Given the description of an element on the screen output the (x, y) to click on. 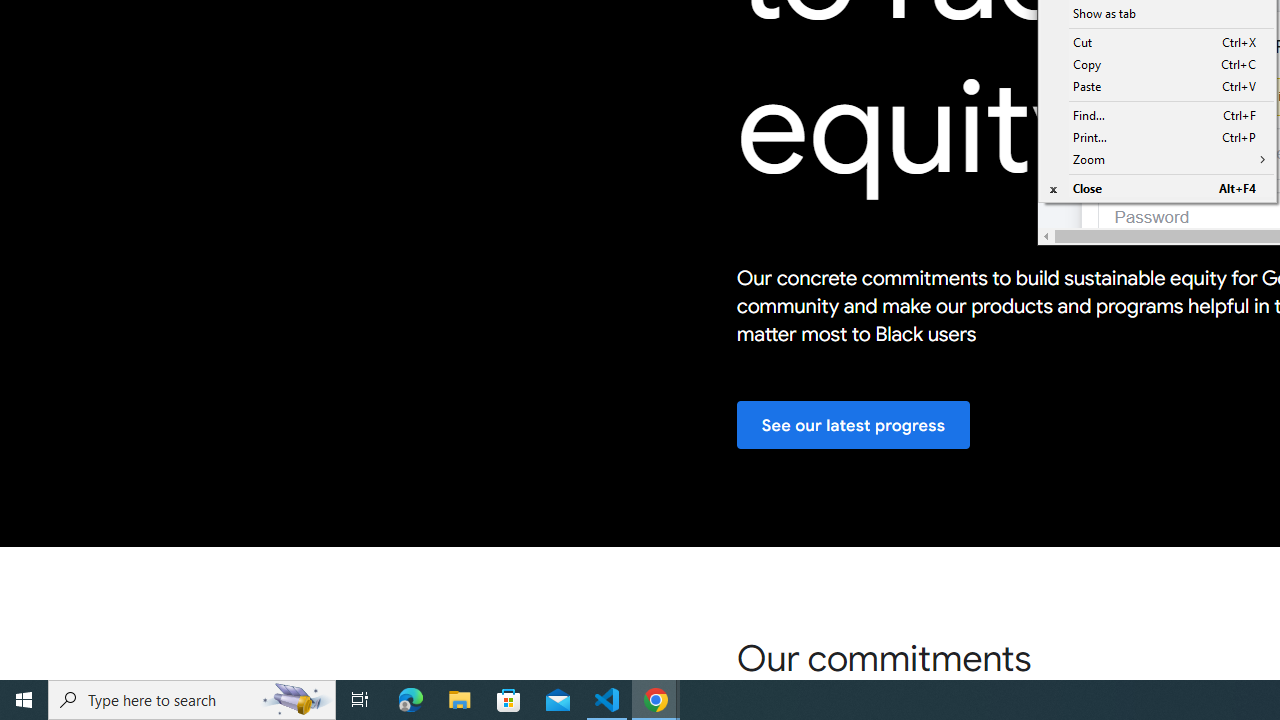
Microsoft Edge (411, 699)
Copy	Ctrl+C (1156, 65)
Microsoft Store (509, 699)
Start (24, 699)
Task View (359, 699)
Google Chrome - 4 running windows (656, 699)
Paste	Ctrl+V (1156, 86)
Cut	Ctrl+X (1156, 42)
Type here to search (191, 699)
File Explorer (460, 699)
Zoom (1156, 160)
